Given the description of an element on the screen output the (x, y) to click on. 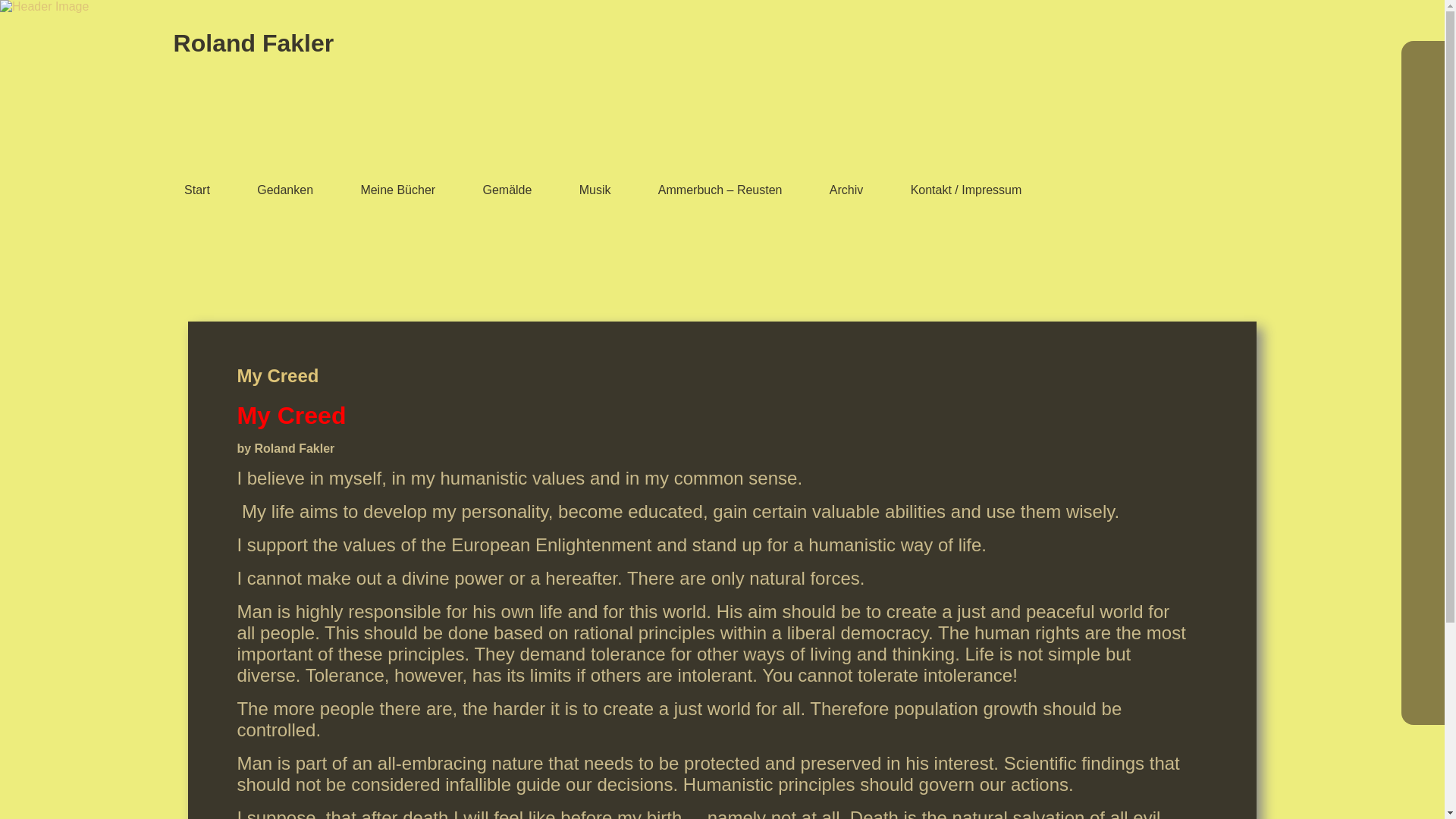
Start (196, 190)
Roland Fakler (253, 42)
Gedanken (285, 190)
